Given the description of an element on the screen output the (x, y) to click on. 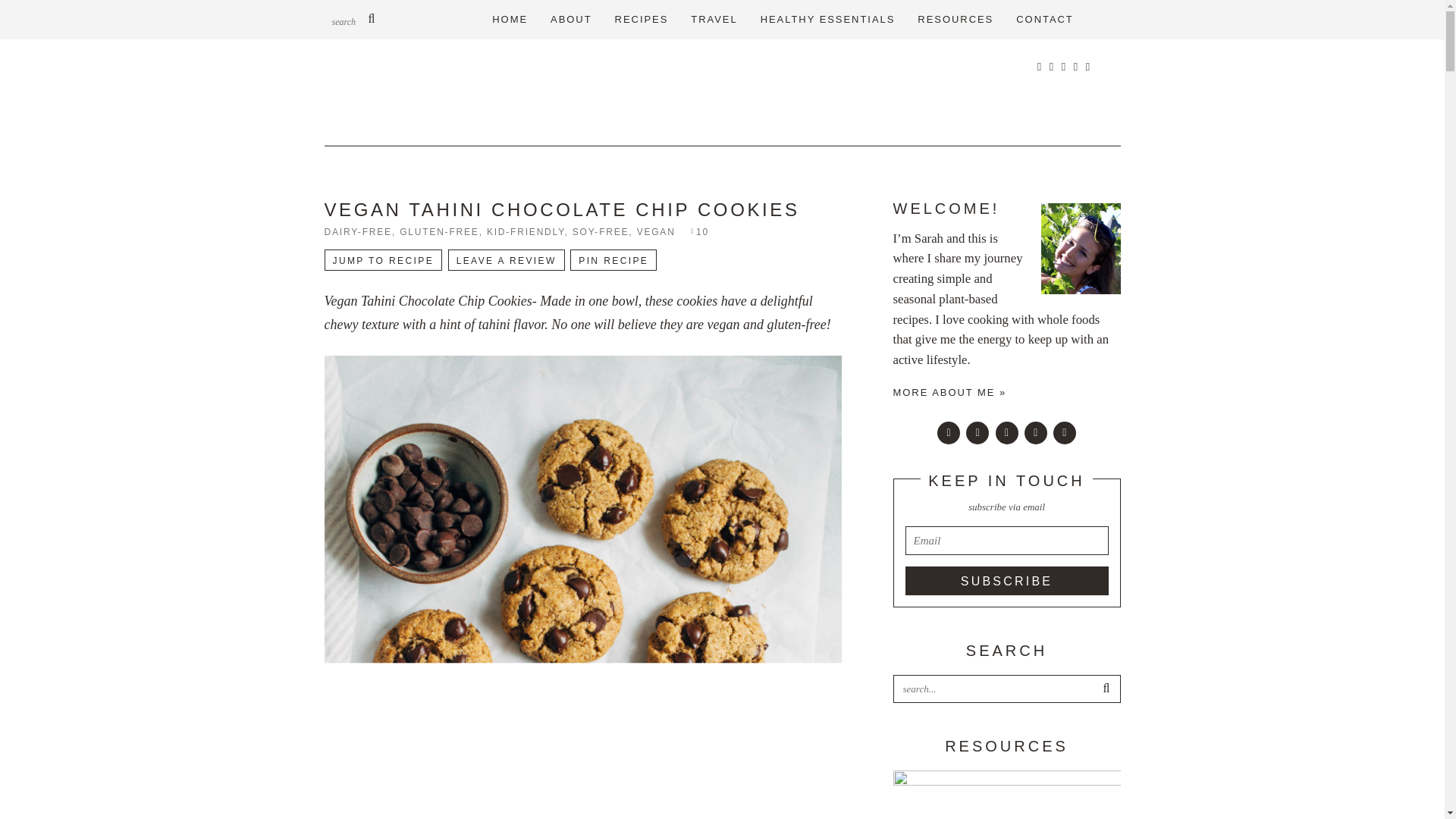
Pinterest (1035, 432)
CONTACT (1044, 19)
HOME (509, 19)
RSS (948, 432)
RECIPES (641, 19)
Facebook (977, 432)
ABOUT (571, 19)
RESOURCES (954, 19)
Twitter (1005, 432)
Instagram (1063, 432)
